Given the description of an element on the screen output the (x, y) to click on. 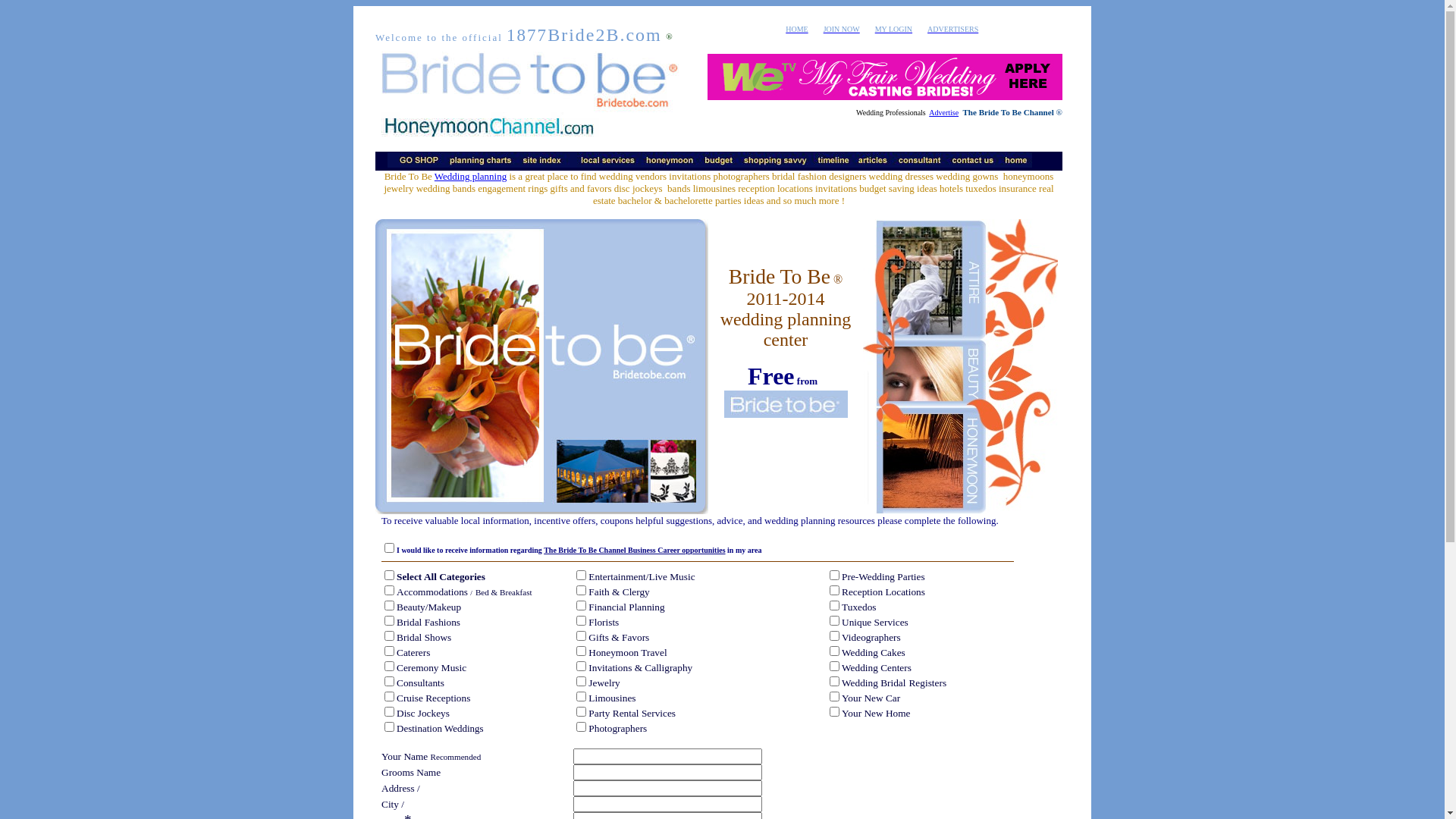
LOGIN Element type: text (900, 27)
HOME Element type: text (796, 29)
MY Element type: text (881, 27)
ADVERTISERS Element type: text (952, 27)
Advertise Element type: text (943, 112)
Wedding planning Element type: text (470, 176)
JOIN NOW Element type: text (841, 27)
